Given the description of an element on the screen output the (x, y) to click on. 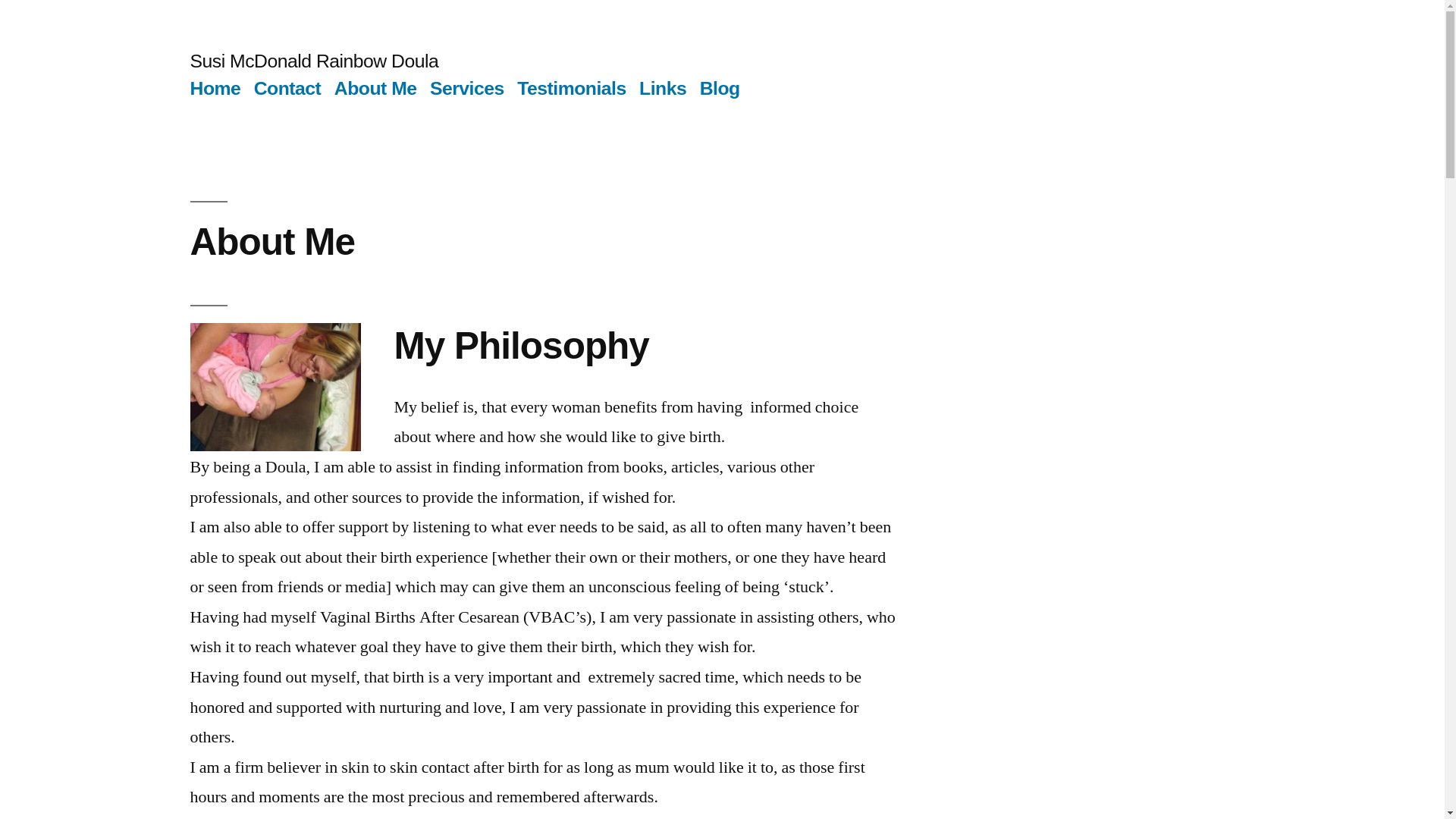
Contact (287, 87)
Testimonials (571, 87)
Services (466, 87)
Links (662, 87)
Home (214, 87)
Blog (719, 87)
About Me (375, 87)
Susi McDonald Rainbow Doula (313, 60)
